Given the description of an element on the screen output the (x, y) to click on. 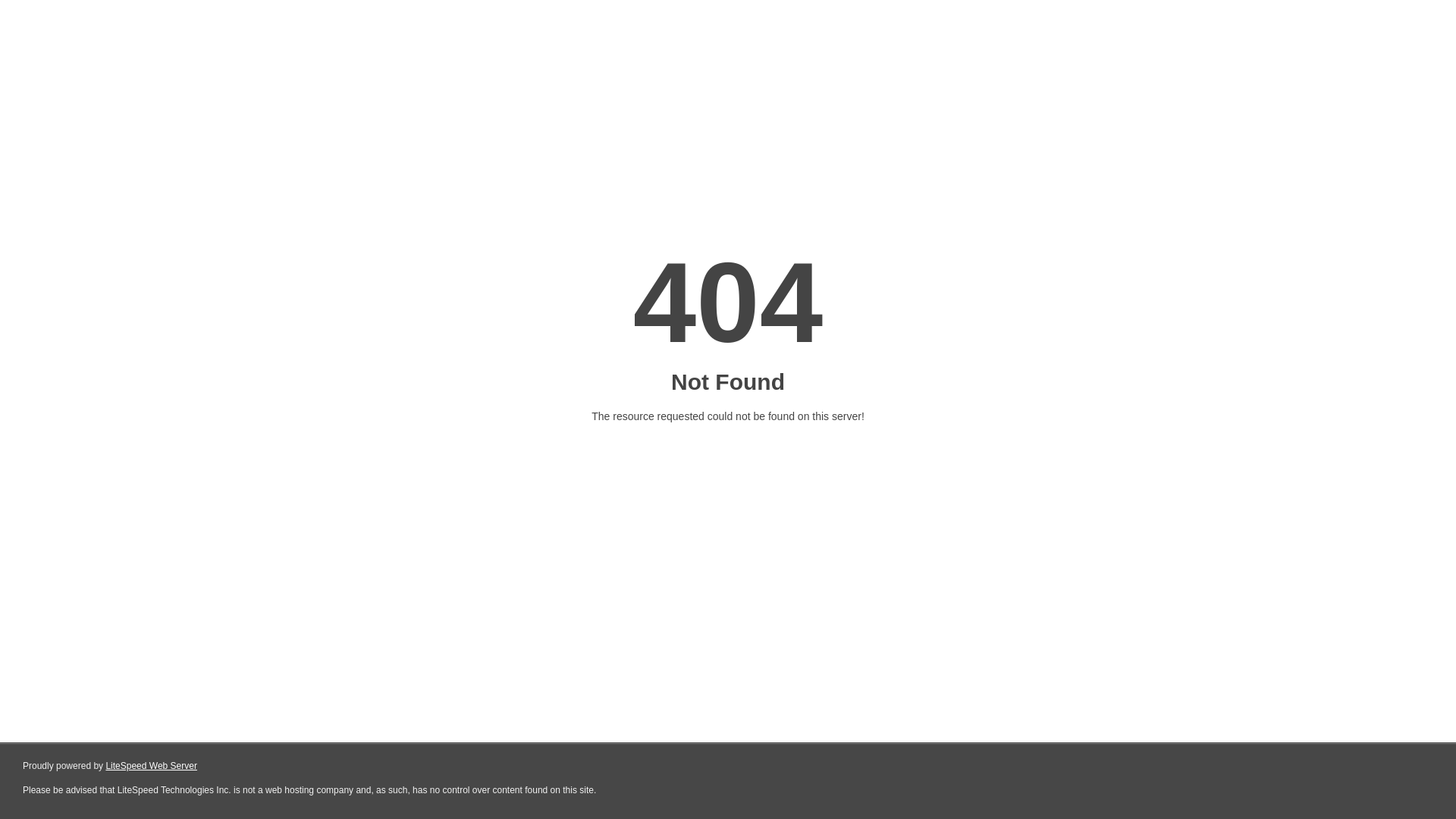
LiteSpeed Web Server Element type: text (151, 765)
